Given the description of an element on the screen output the (x, y) to click on. 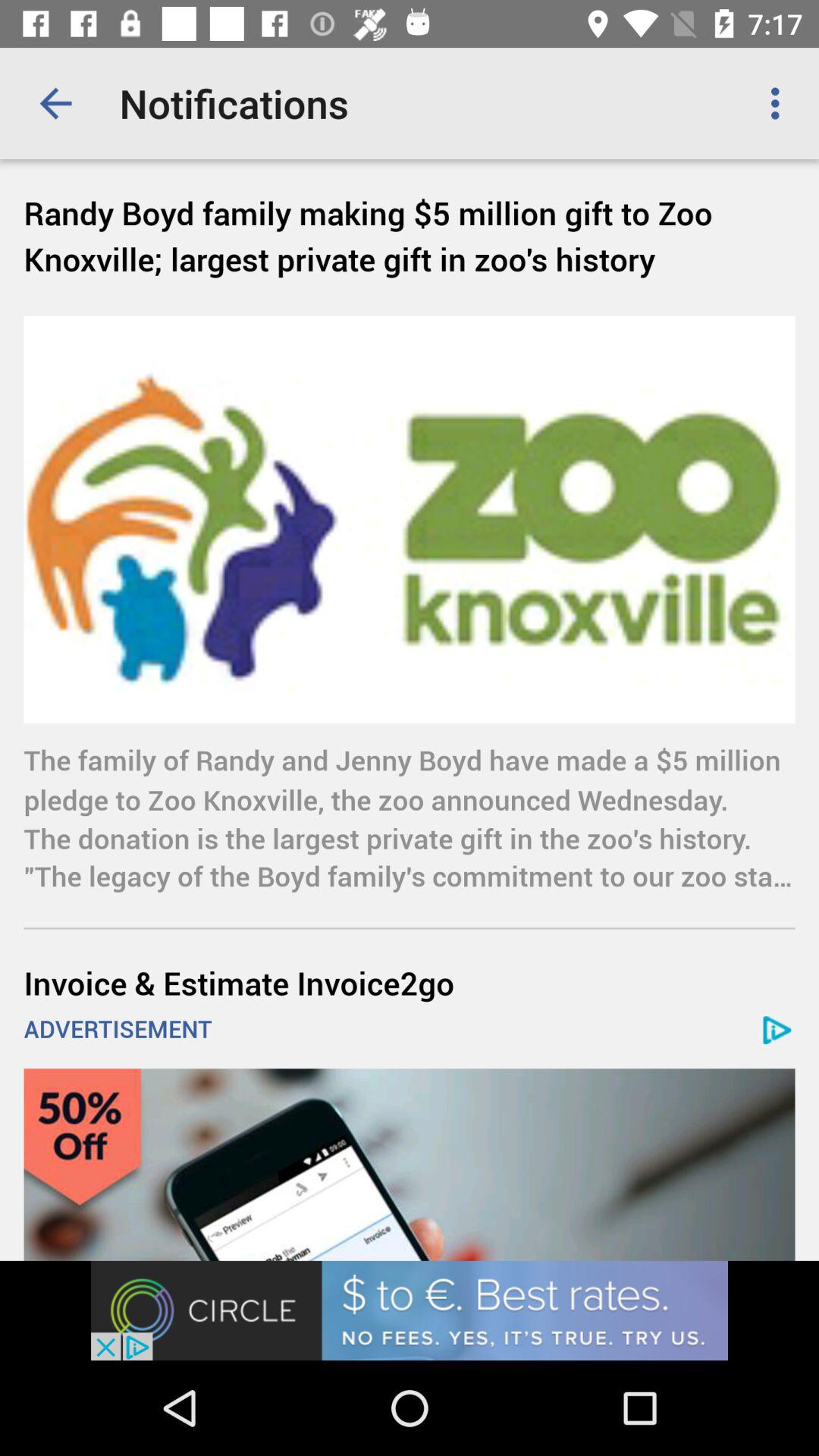
advertisement (409, 1310)
